Given the description of an element on the screen output the (x, y) to click on. 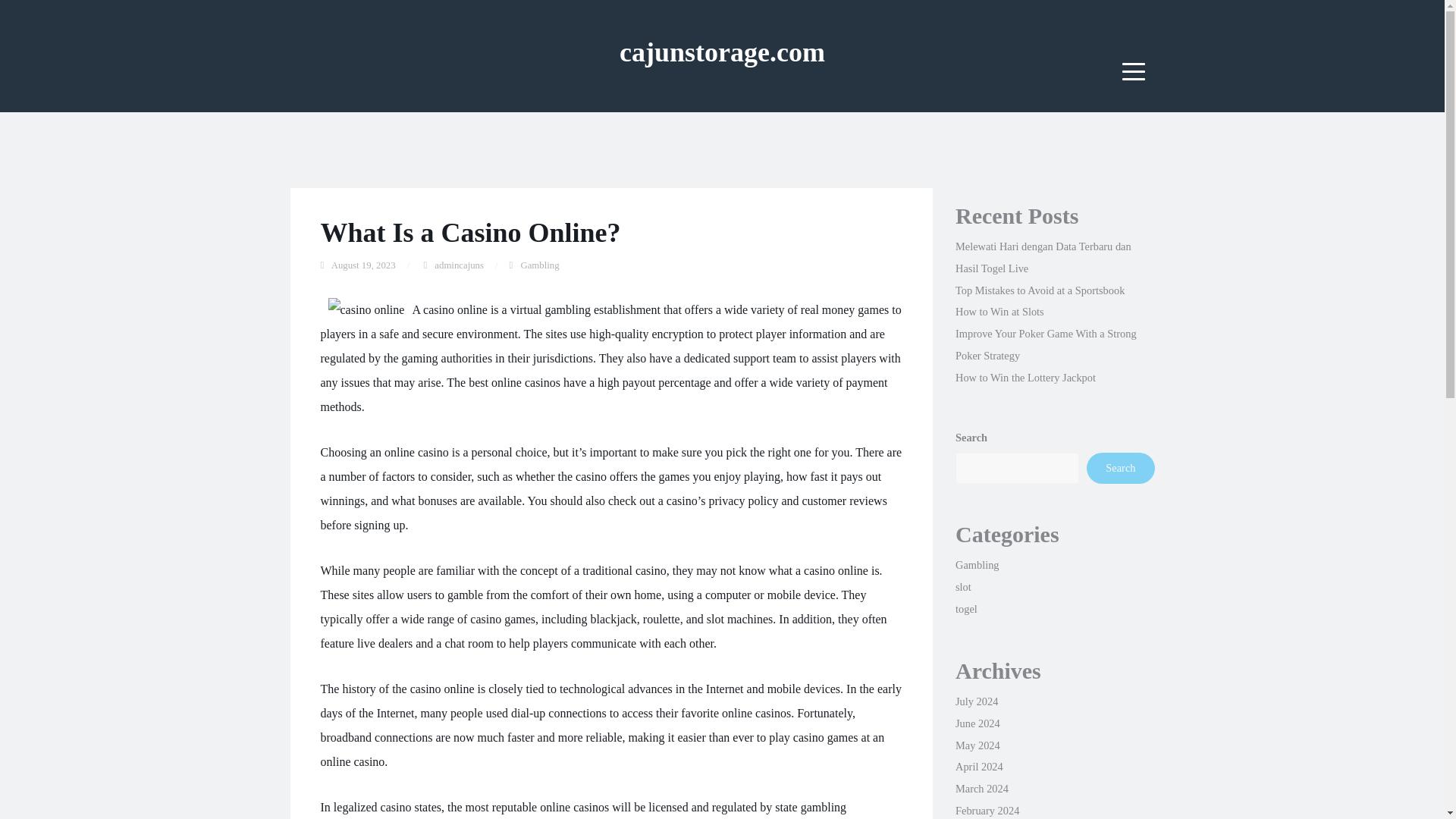
slot (963, 586)
How to Win at Slots (999, 311)
cajunstorage.com (722, 51)
July 2024 (976, 701)
togel (965, 608)
March 2024 (982, 788)
Top Mistakes to Avoid at a Sportsbook (1039, 290)
Menu (1133, 71)
How to Win the Lottery Jackpot (1025, 377)
Gambling (976, 564)
April 2024 (979, 766)
February 2024 (987, 810)
May 2024 (977, 745)
Improve Your Poker Game With a Strong Poker Strategy (1046, 344)
Search (1120, 468)
